Given the description of an element on the screen output the (x, y) to click on. 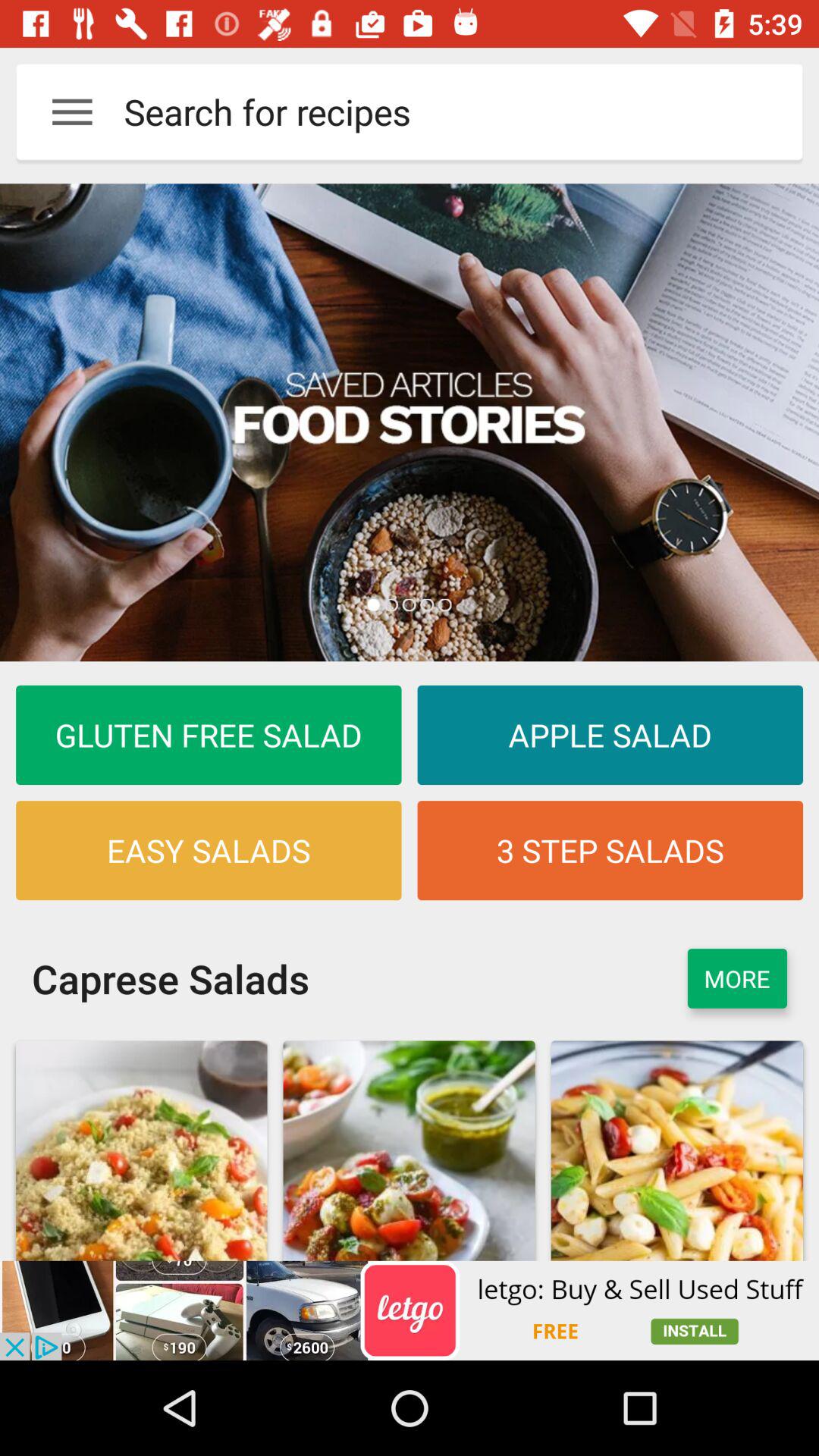
advertisement banner for letgo buy sell used stuff (409, 1310)
